Given the description of an element on the screen output the (x, y) to click on. 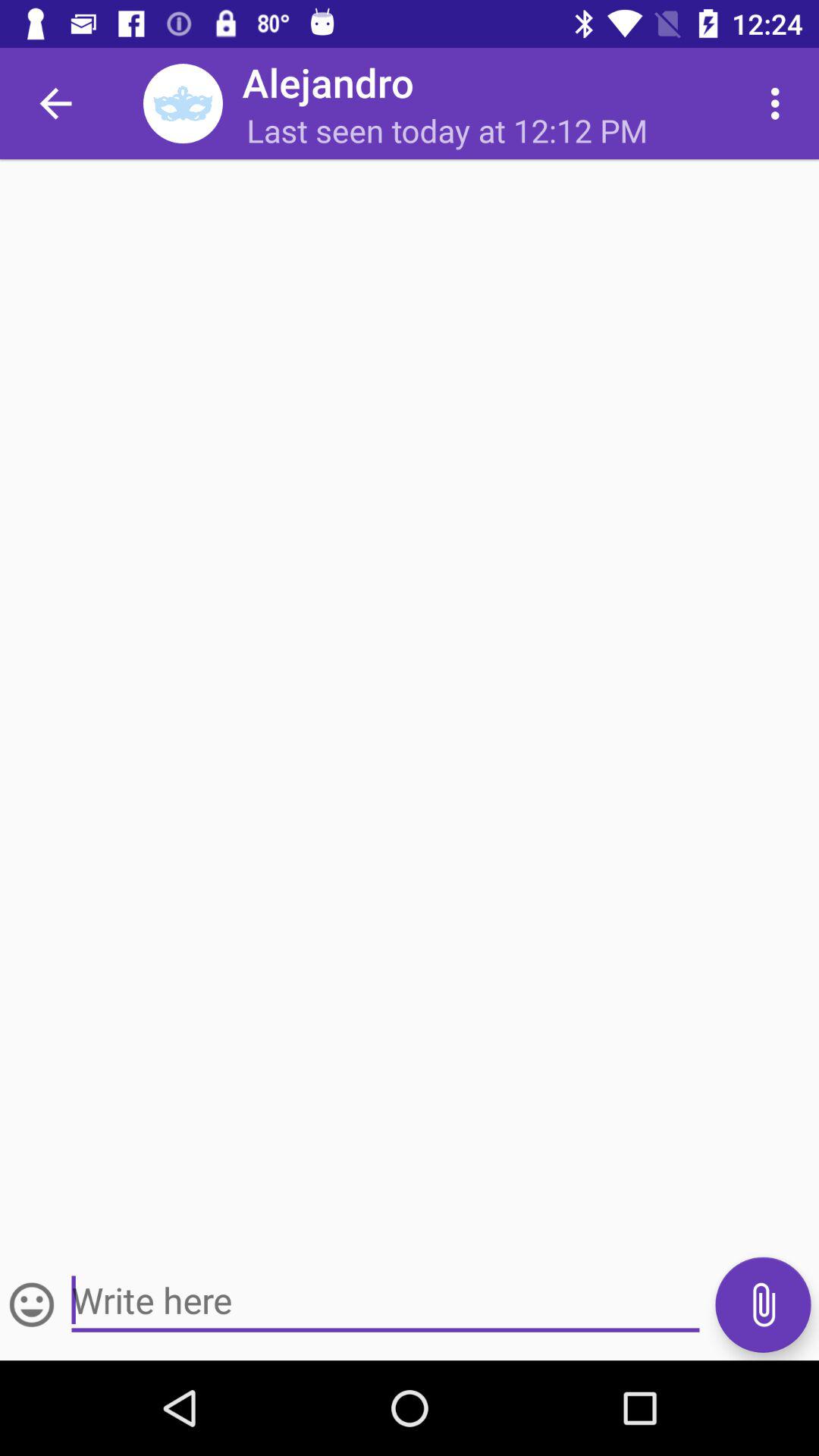
emoji (31, 1304)
